Given the description of an element on the screen output the (x, y) to click on. 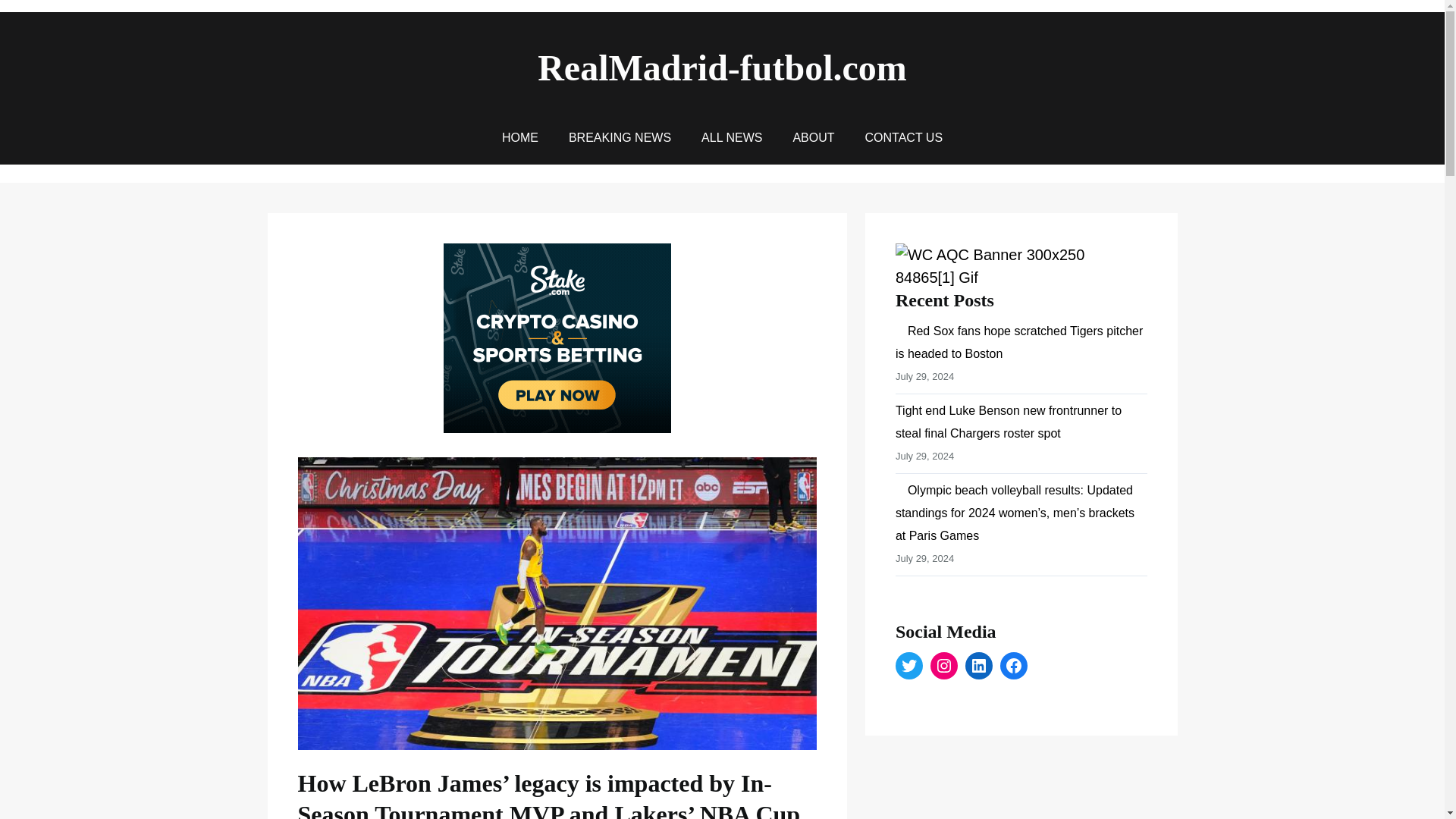
Twitter (909, 665)
Instagram (944, 665)
Facebook (1013, 665)
RealMadrid-futbol.com (722, 67)
ABOUT (813, 137)
CONTACT US (903, 137)
LinkedIn (978, 665)
ALL NEWS (731, 137)
HOME (520, 137)
BREAKING NEWS (620, 137)
